Given the description of an element on the screen output the (x, y) to click on. 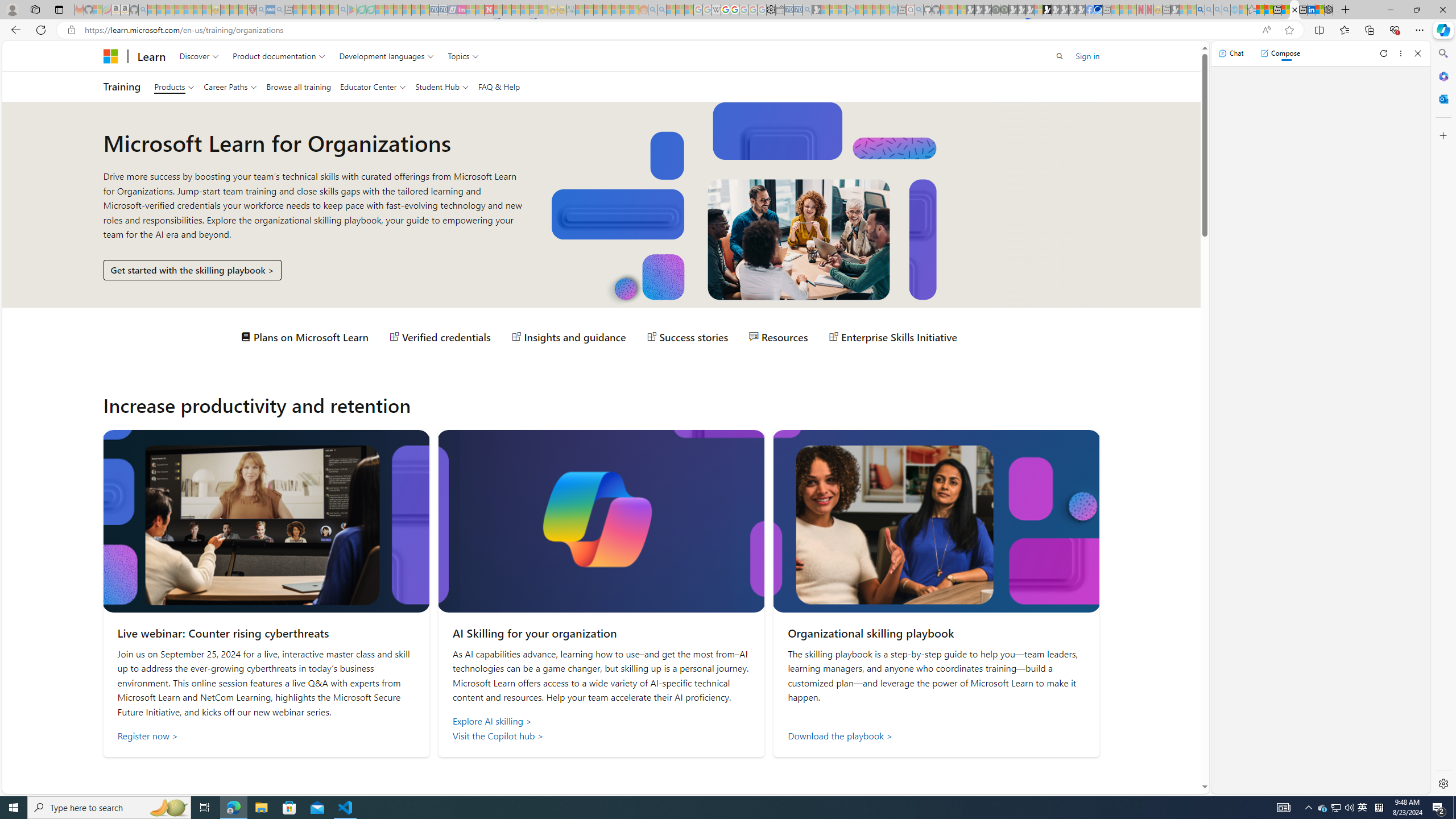
Chat (1230, 52)
Kinda Frugal - MSN - Sleeping (616, 9)
github - Search - Sleeping (919, 9)
DITOGAMES AG Imprint - Sleeping (570, 9)
Favorites - Sleeping (1251, 9)
LinkedIn (1311, 9)
